Given the description of an element on the screen output the (x, y) to click on. 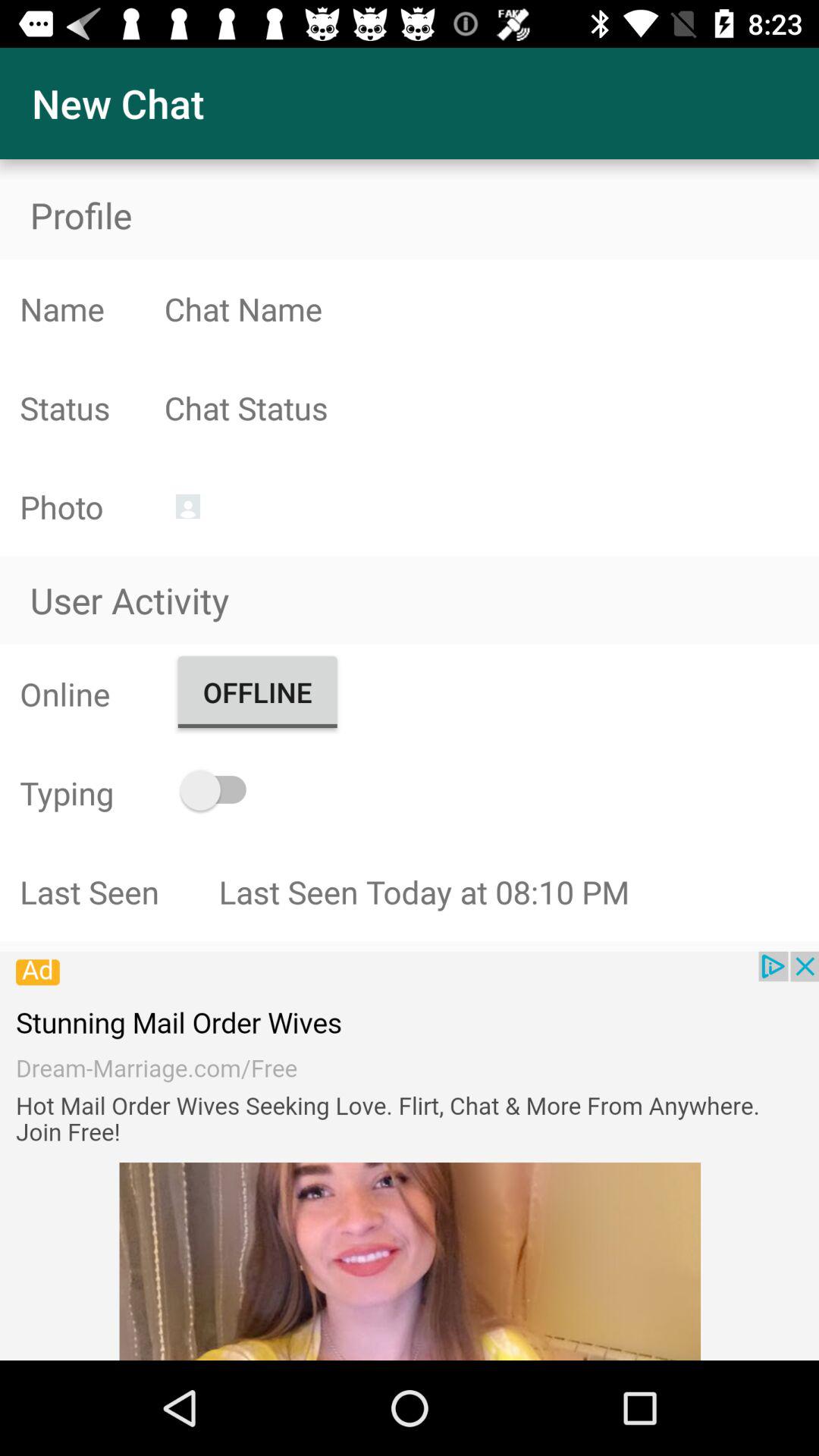
view photo (187, 506)
